Given the description of an element on the screen output the (x, y) to click on. 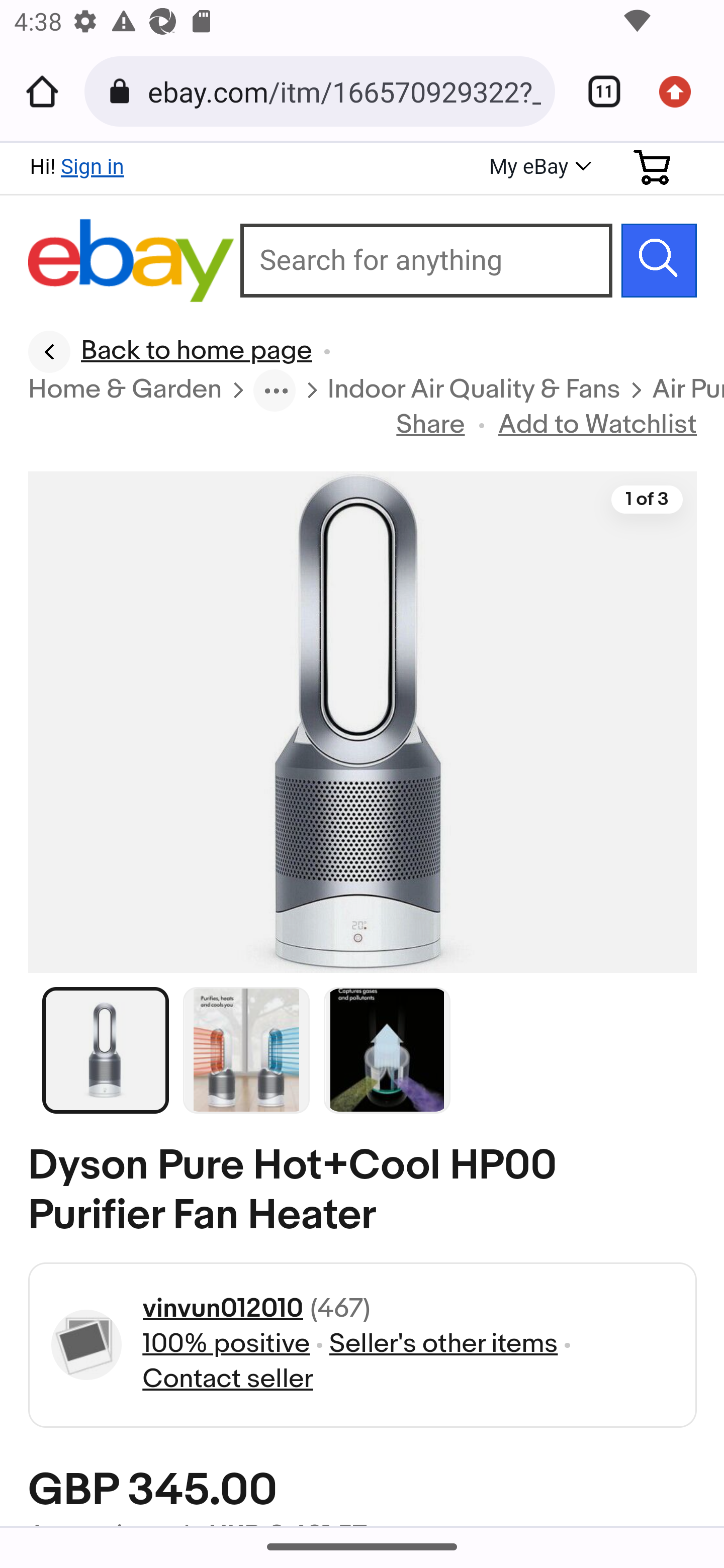
Home (42, 91)
Connection is secure (122, 91)
Switch or close tabs (597, 91)
Update available. More options (681, 91)
Your shopping cart (652, 166)
My eBay (538, 167)
Sign in (92, 166)
eBay Home (132, 260)
Search (658, 260)
Back to home page (170, 351)
Home & Garden (125, 391)
Indoor Air Quality & Fans (474, 391)
Air Purifiers (687, 391)
Share (431, 425)
Add to Watchlist (598, 425)
Picture 1 of 3 (105, 1049)
Picture 2 of 3 (247, 1049)
Picture 3 of 3 (386, 1049)
vinvun012010 (222, 1309)
100% positive (225, 1344)
Seller's other items (443, 1344)
Contact seller (227, 1379)
